Given the description of an element on the screen output the (x, y) to click on. 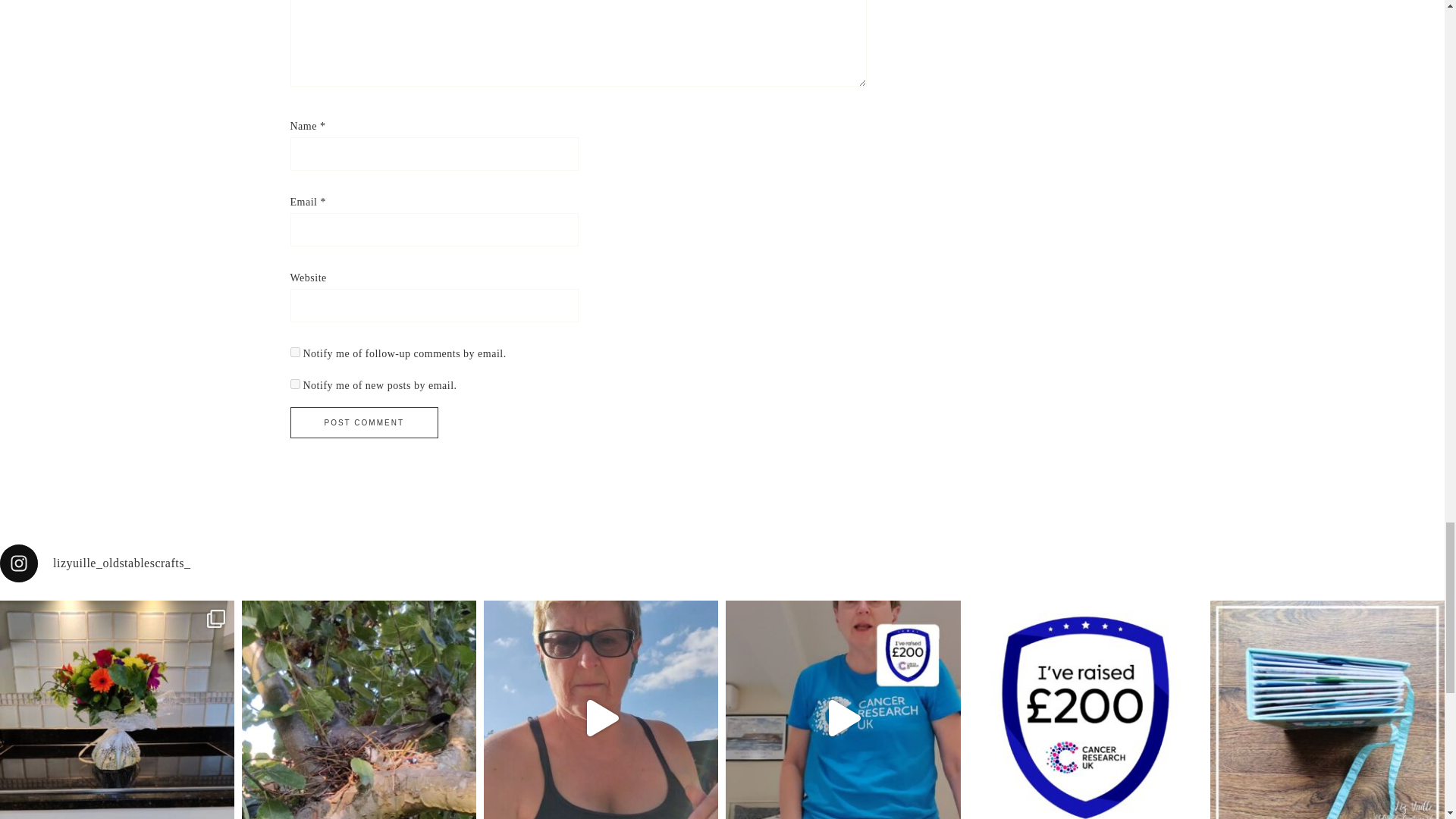
Post Comment (363, 422)
subscribe (294, 384)
subscribe (294, 352)
Post Comment (363, 422)
